Given the description of an element on the screen output the (x, y) to click on. 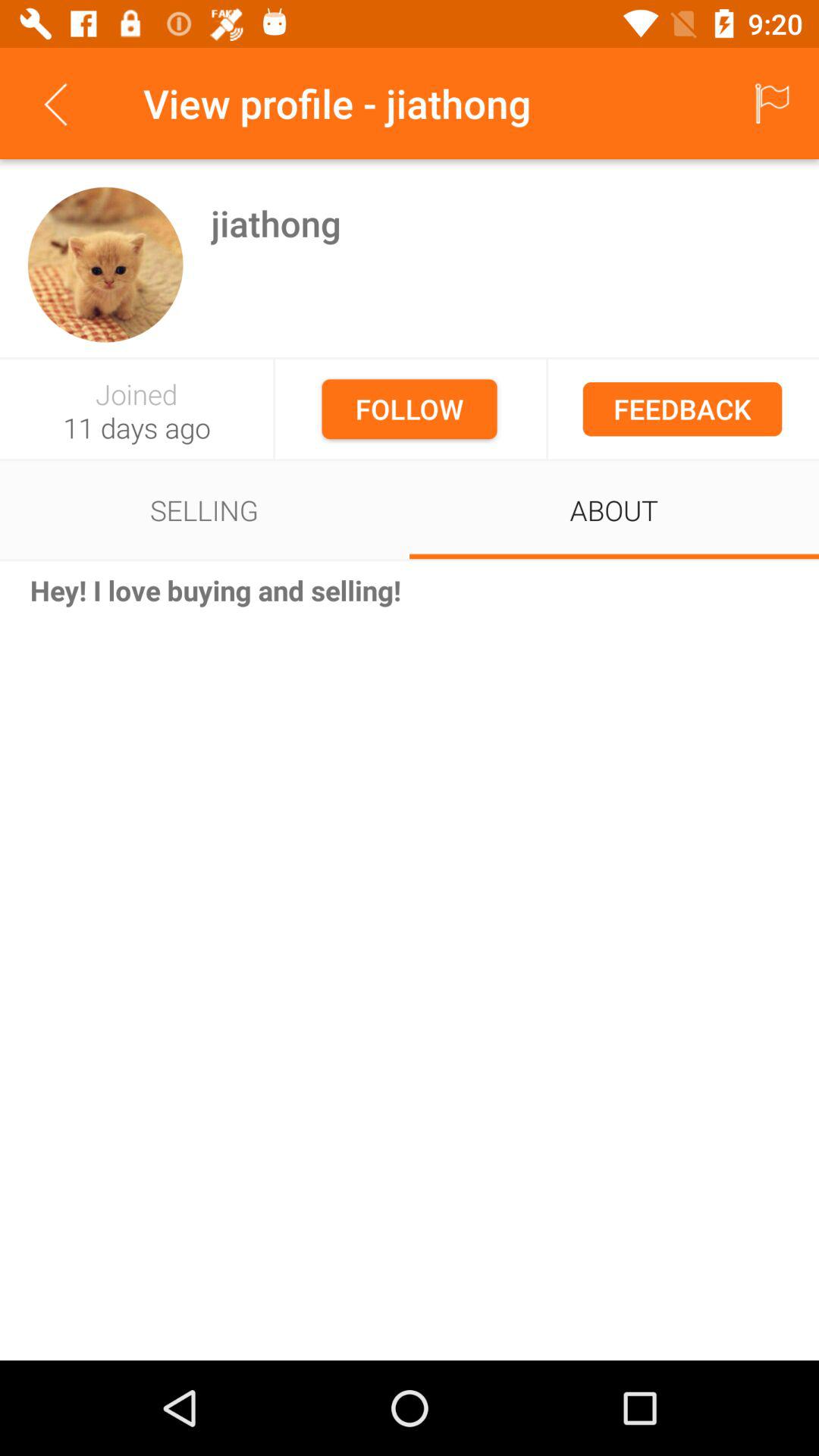
jump to feedback (682, 409)
